Given the description of an element on the screen output the (x, y) to click on. 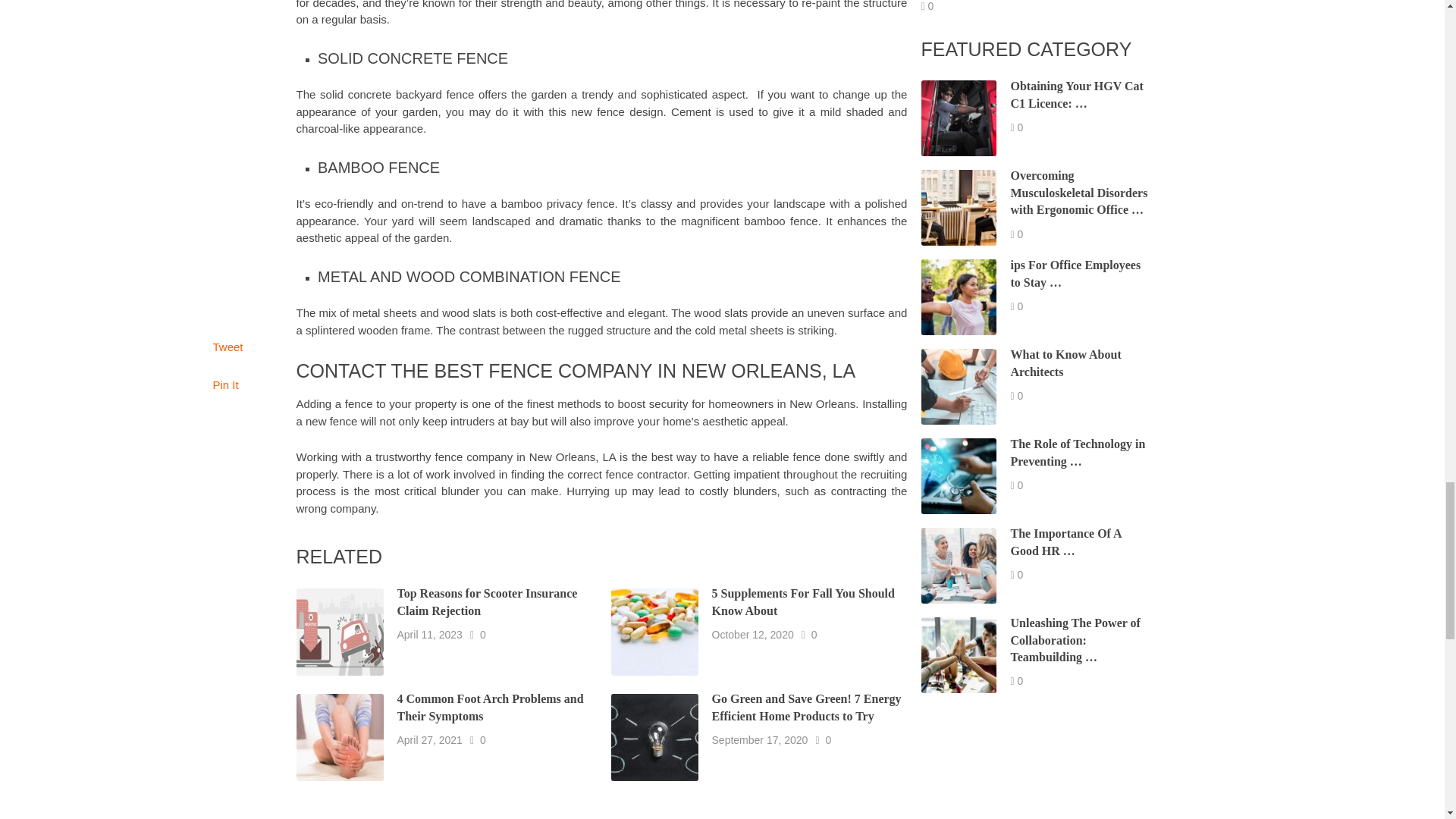
Top Reasons for Scooter Insurance Claim Rejection (487, 602)
4 Common Foot Arch Problems and Their Symptoms (490, 707)
5 Supplements For Fall You Should Know About (803, 602)
